Given the description of an element on the screen output the (x, y) to click on. 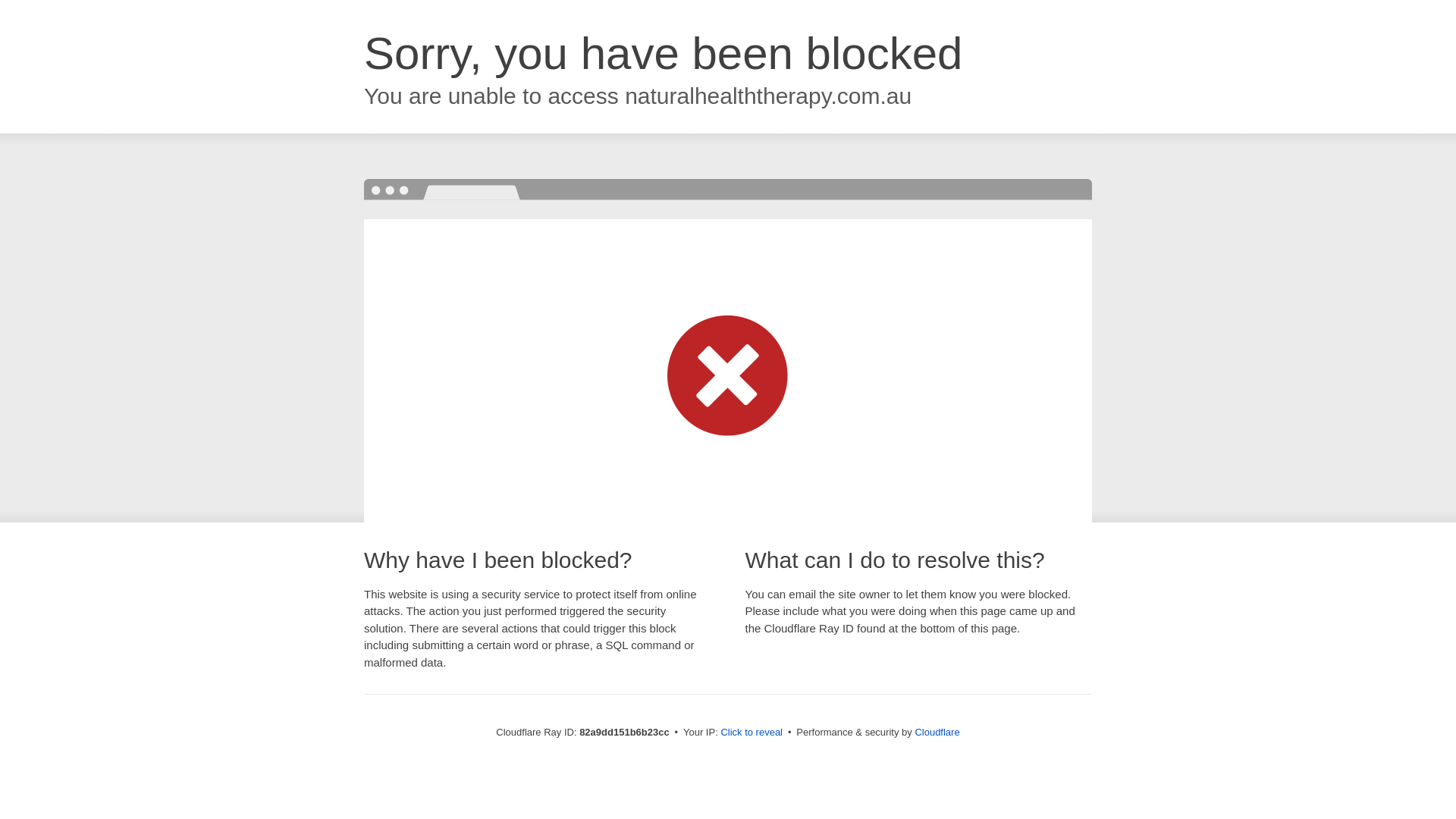
Click to reveal Element type: text (751, 732)
Cloudflare Element type: text (936, 731)
